Given the description of an element on the screen output the (x, y) to click on. 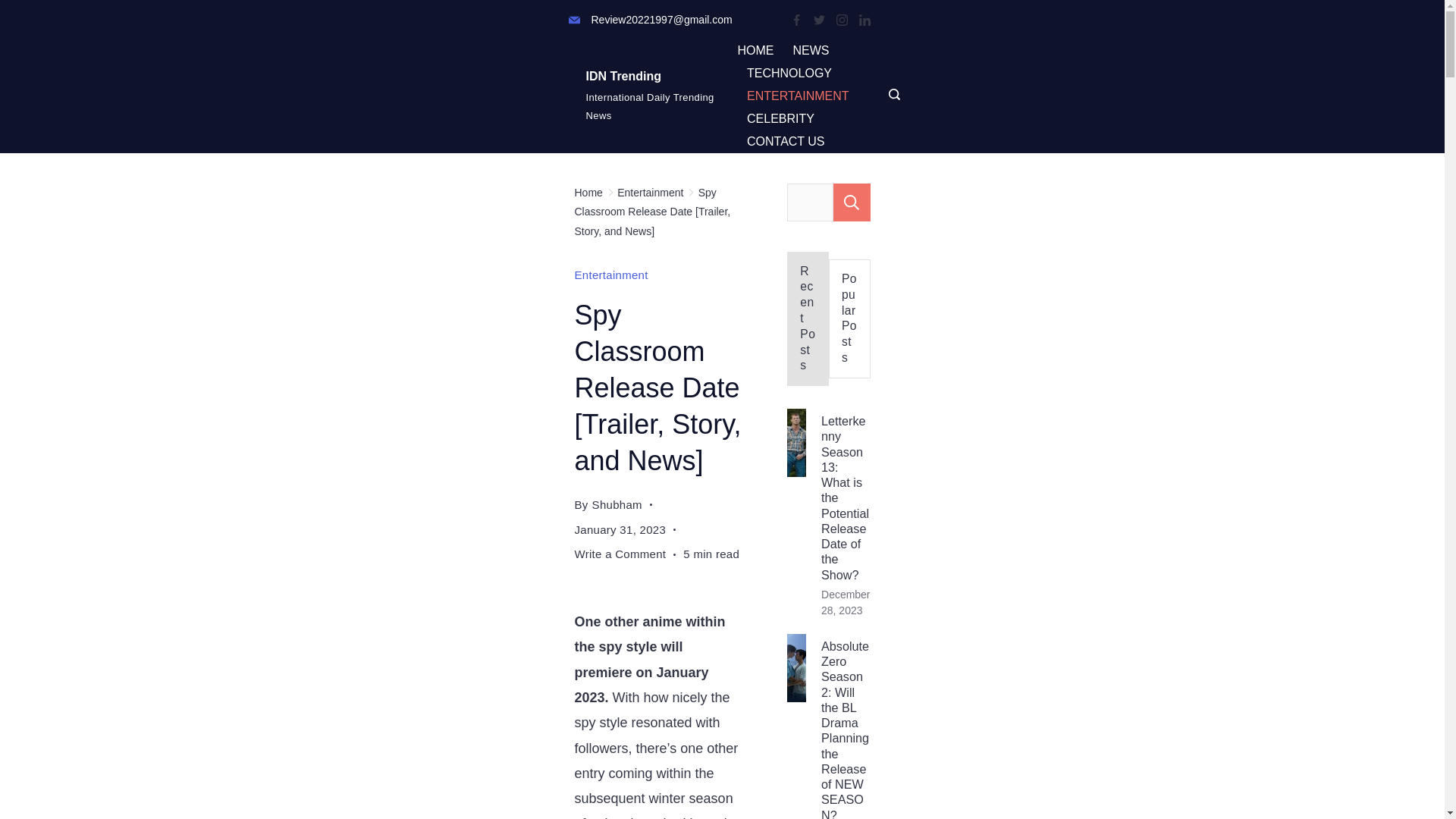
Entertainment (649, 192)
CELEBRITY (780, 118)
CONTACT US (780, 141)
Home (588, 192)
IDN Trending (623, 75)
NEWS (810, 50)
TECHNOLOGY (788, 73)
ENTERTAINMENT (797, 96)
Entertainment (611, 274)
HOME (759, 50)
Shubham (617, 504)
